Given the description of an element on the screen output the (x, y) to click on. 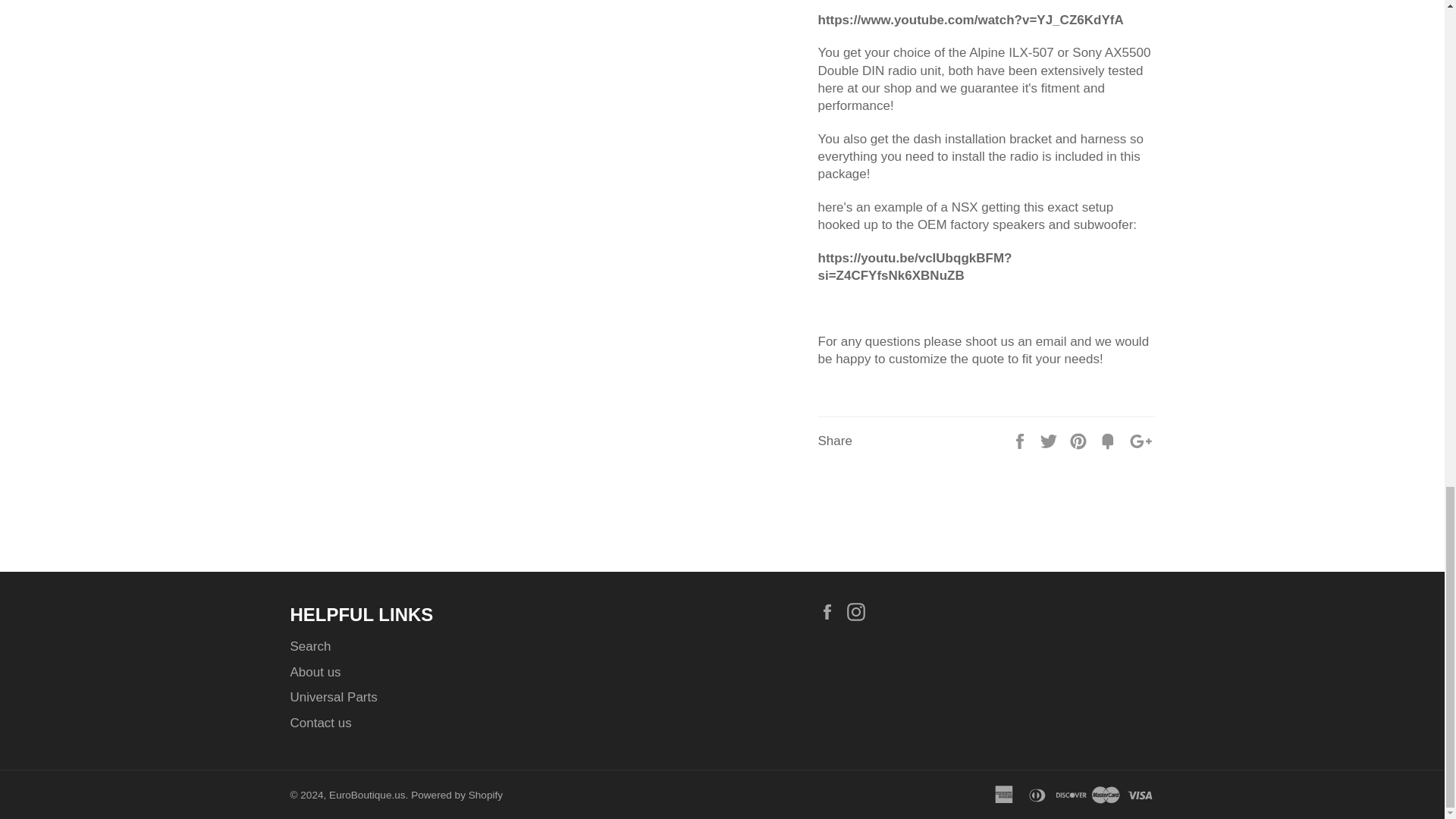
Tweet on Twitter (1050, 440)
EuroBoutique.us on Instagram (859, 610)
EuroBoutique.us on Facebook (829, 610)
Add to Fancy (1110, 440)
Share on Facebook (1021, 440)
Pin on Pinterest (1079, 440)
